Given the description of an element on the screen output the (x, y) to click on. 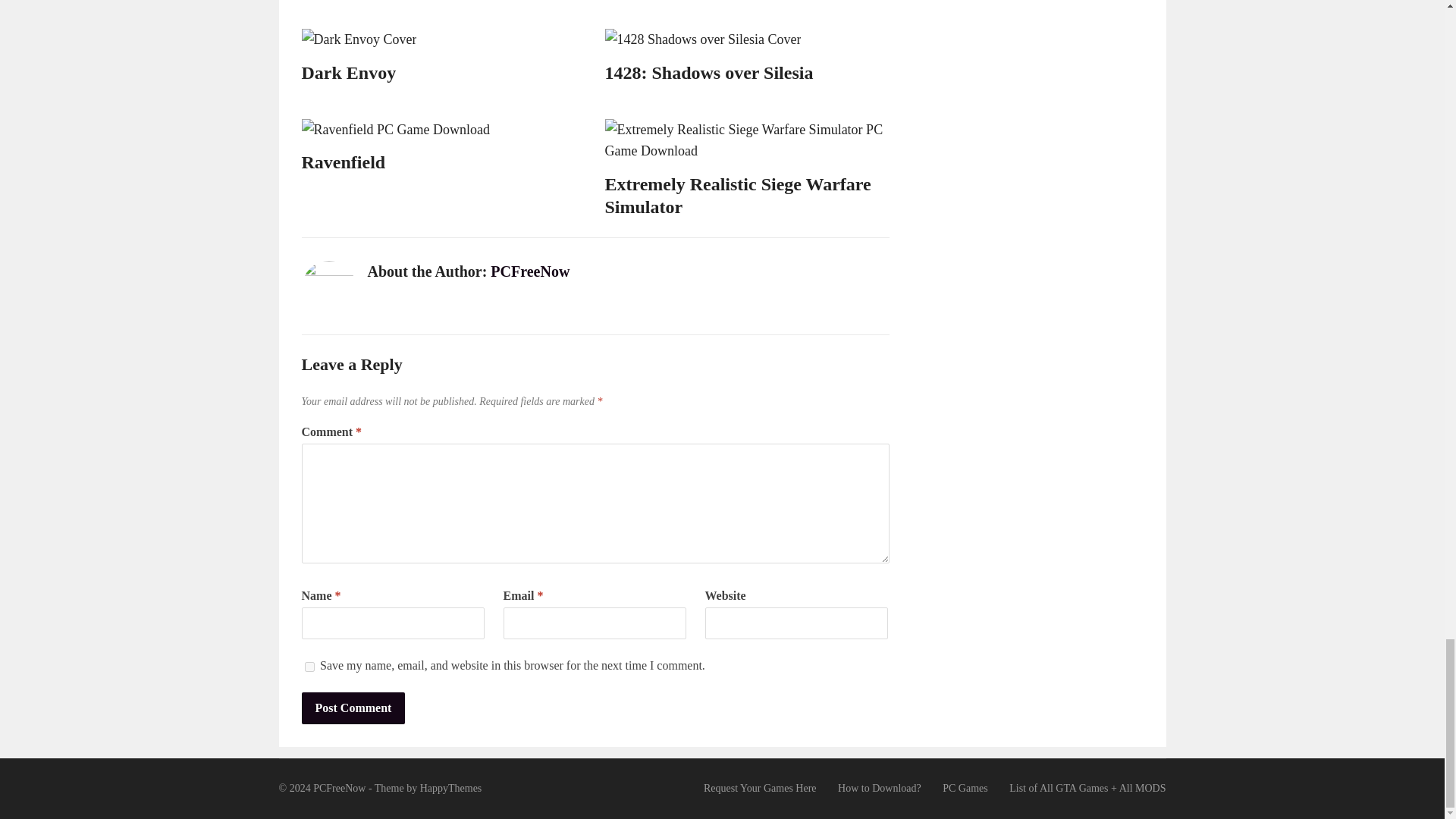
Extremely Realistic Siege Warfare Simulator (737, 195)
1428: Shadows over Silesia (709, 72)
Post Comment (353, 707)
Post Comment (353, 707)
Dark Envoy (348, 72)
yes (309, 666)
Ravenfield (343, 161)
PCFreeNow (529, 271)
